Given the description of an element on the screen output the (x, y) to click on. 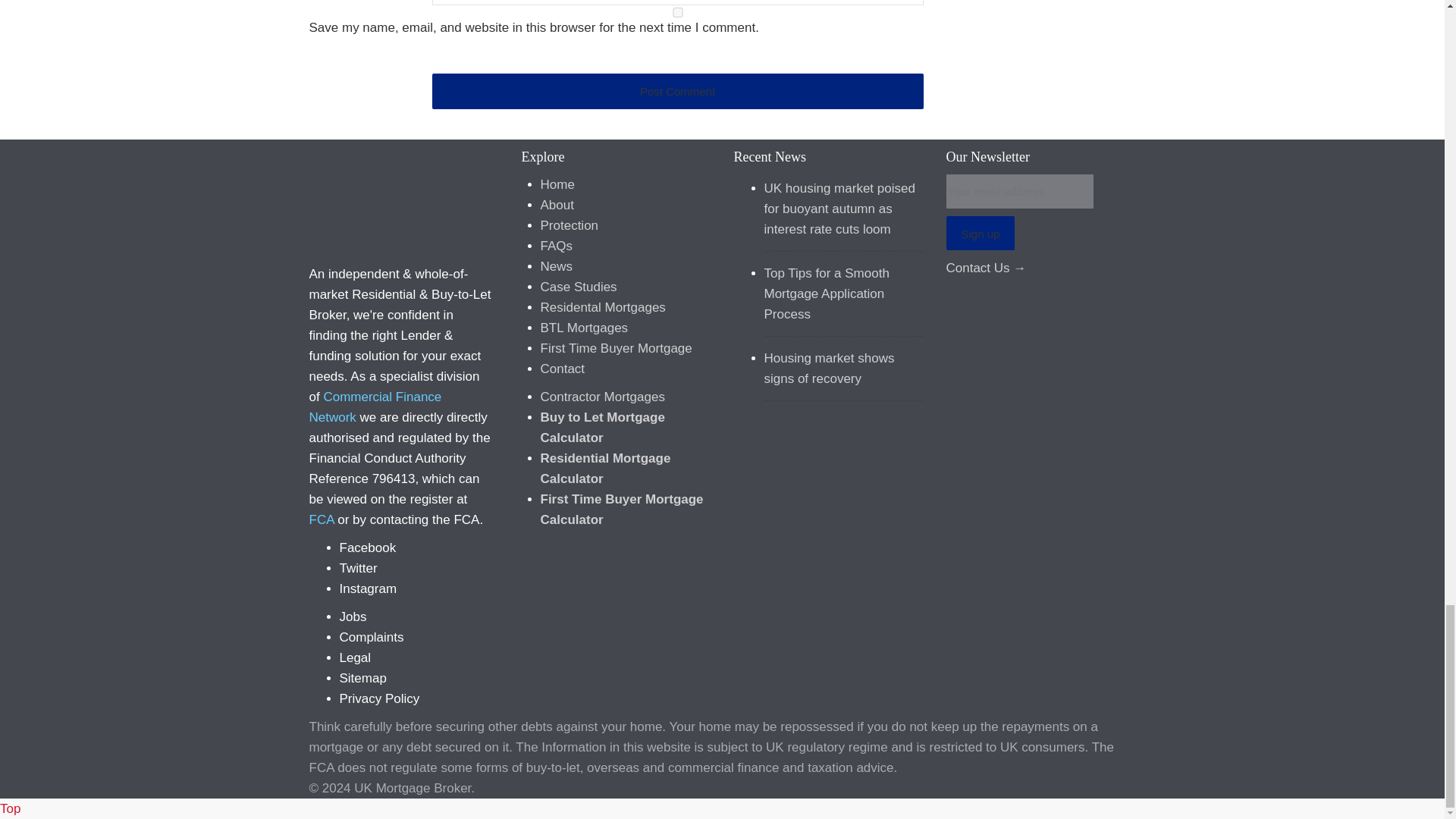
Post Comment (677, 90)
yes (677, 12)
Sign up (980, 233)
